Given the description of an element on the screen output the (x, y) to click on. 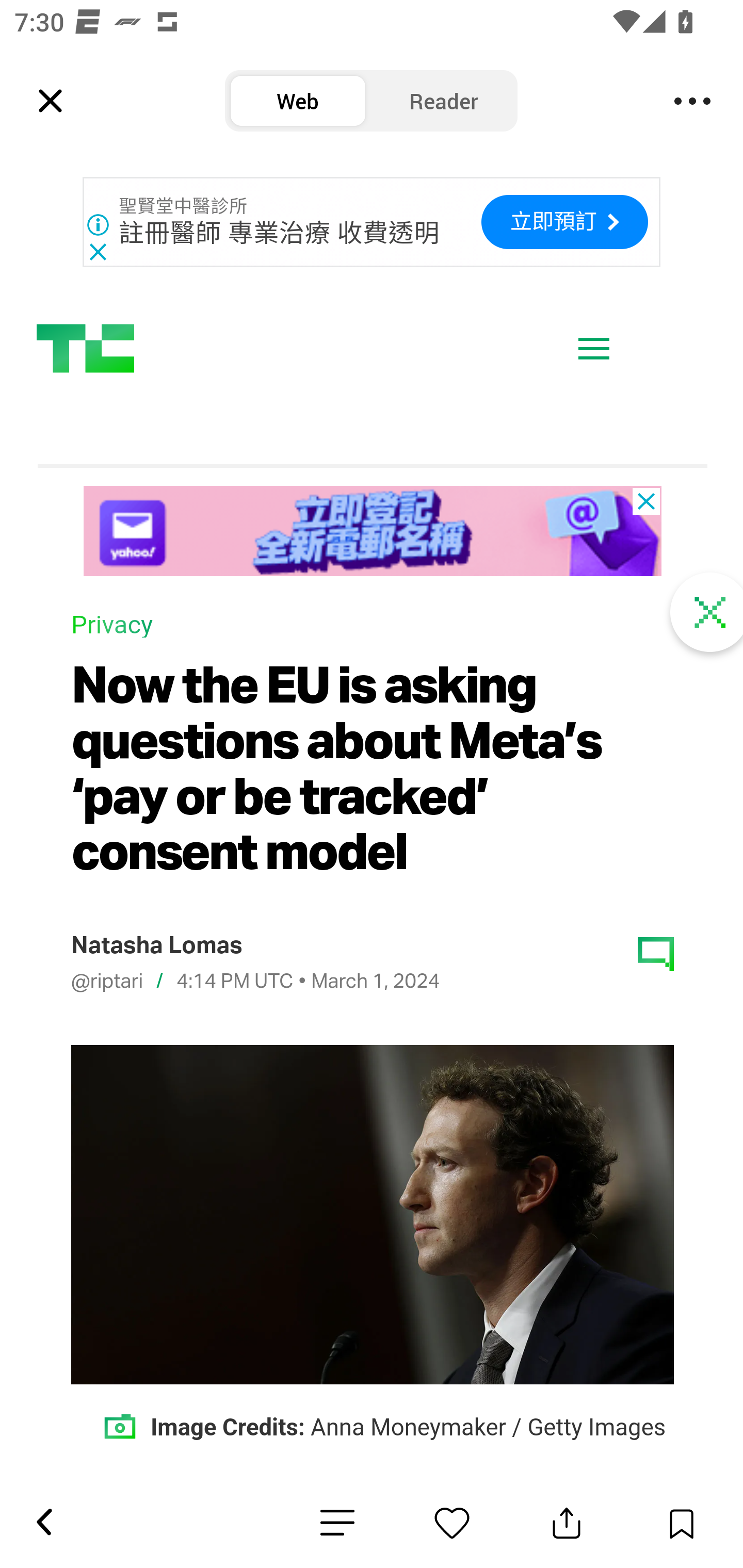
Leading Icon (50, 101)
Reader (443, 101)
Menu (692, 101)
聖賢堂中醫診所 (183, 205)
立即預訂 (564, 221)
註冊醫師 專業治療 收費透明 (279, 232)
TechCrunch (85, 348)
Open Navigation (594, 350)
myyahoo (371, 532)
Close Screen (707, 613)
Privacy (111, 627)
comment (656, 954)
Posts by Natasha Lomas Natasha Lomas (155, 946)
@riptari @ riptari  /  4:14 PM UTC•March 1, 2024 (255, 982)
@riptari @ riptari (106, 982)
Back Button (43, 1523)
News Detail Emotion (451, 1523)
Share Button (566, 1523)
Save Button (680, 1523)
News Detail Emotion (337, 1523)
